Given the description of an element on the screen output the (x, y) to click on. 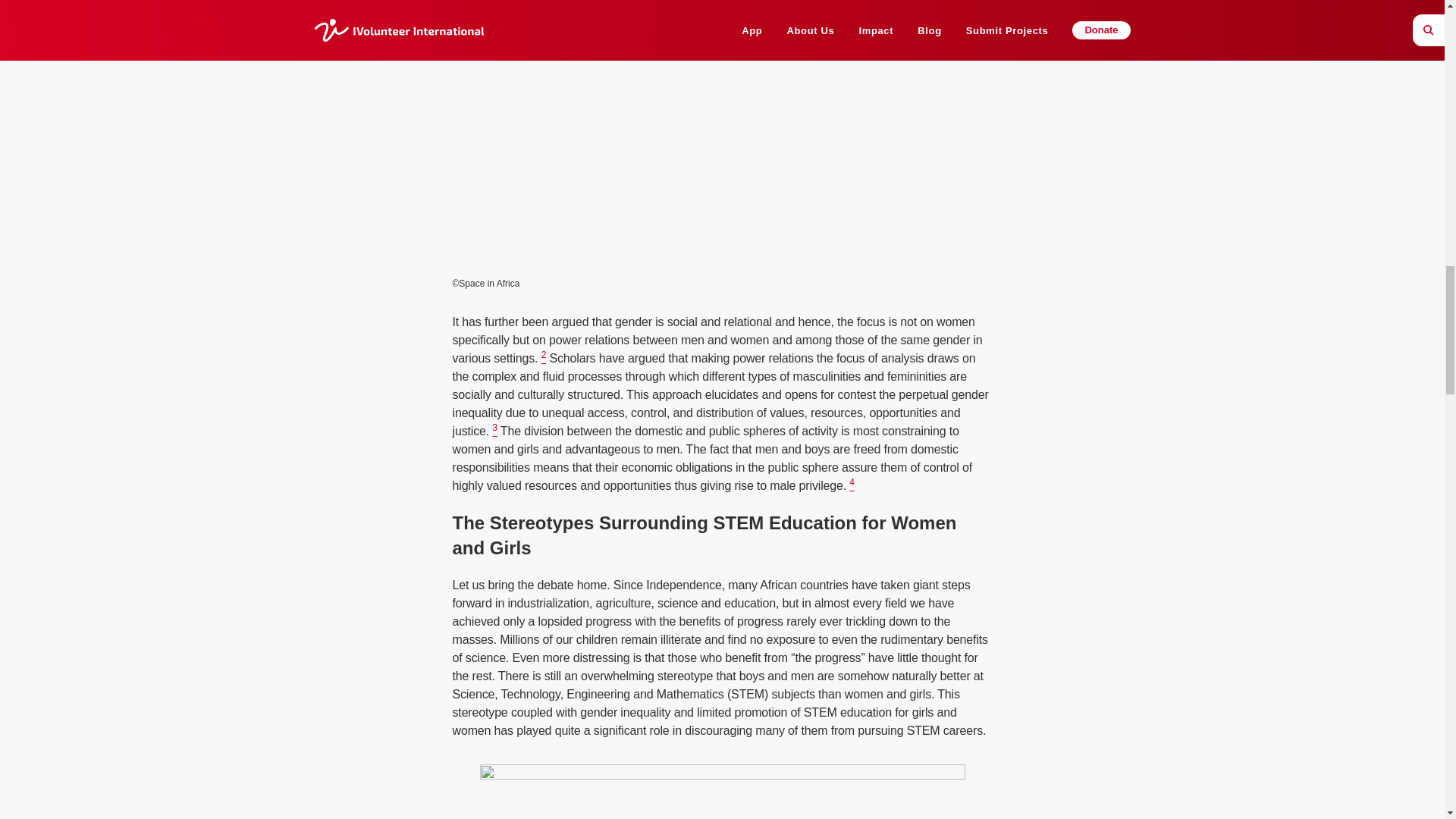
2 (544, 358)
4 (851, 485)
3 (494, 431)
